Given the description of an element on the screen output the (x, y) to click on. 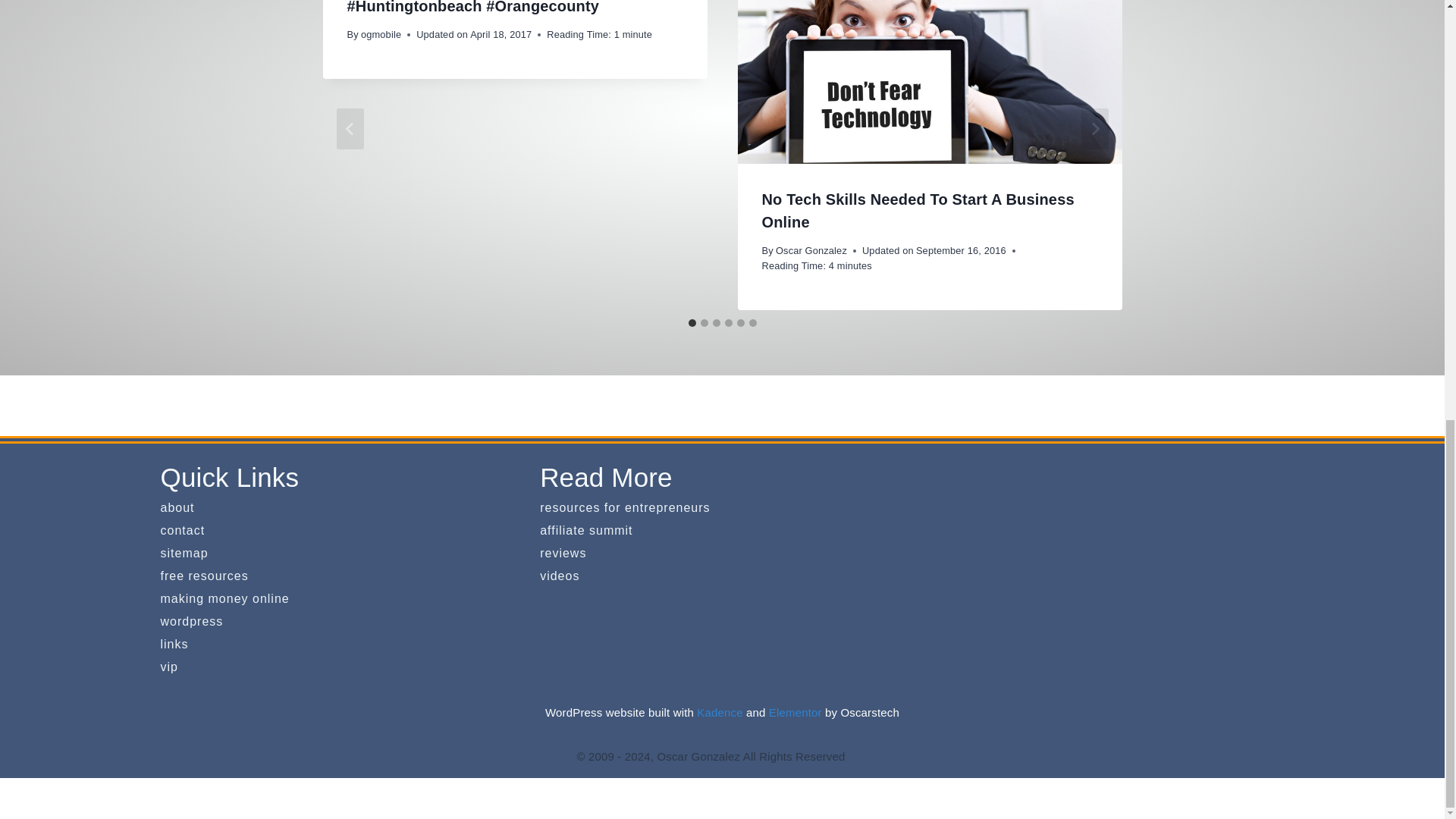
Kadence WP (719, 712)
Elementor (795, 712)
No Tech Skills Needed To Start A Business Online (917, 210)
